Given the description of an element on the screen output the (x, y) to click on. 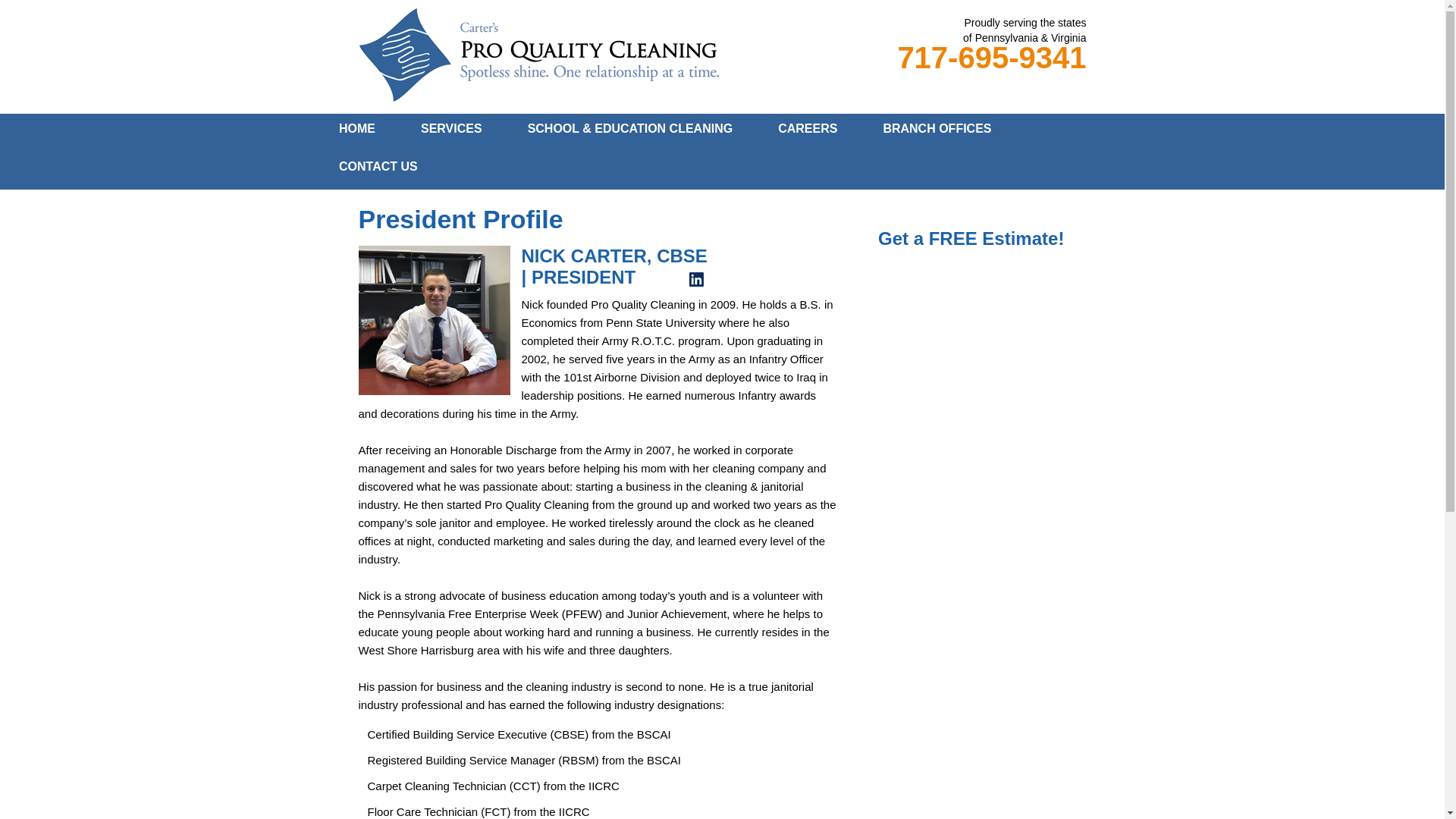
CAREERS (807, 128)
717-695-9341 (991, 57)
BRANCH OFFICES (936, 128)
CONTACT US (378, 166)
HOME (356, 128)
SERVICES (451, 128)
